Given the description of an element on the screen output the (x, y) to click on. 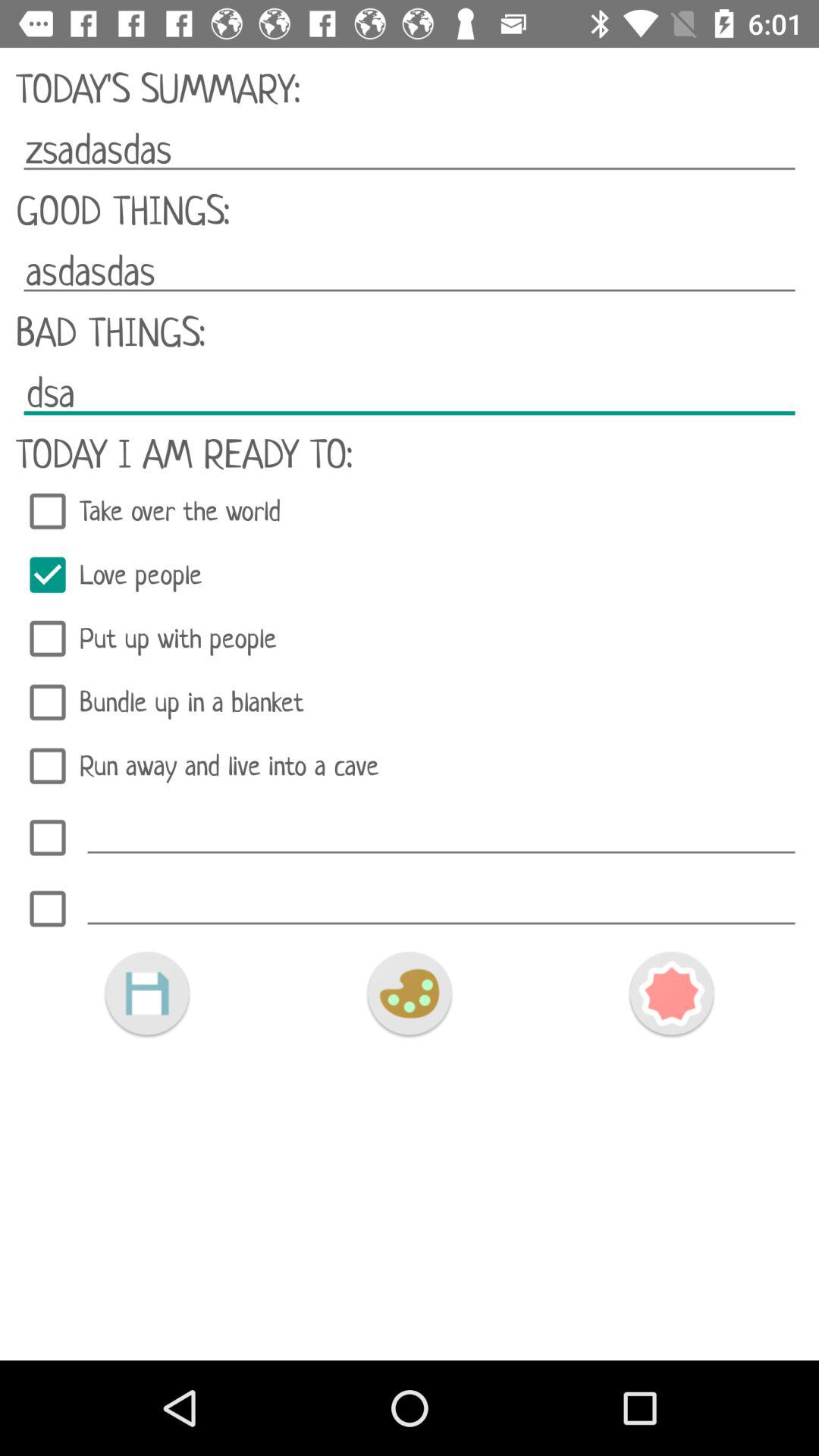
turn off run away and (409, 765)
